Given the description of an element on the screen output the (x, y) to click on. 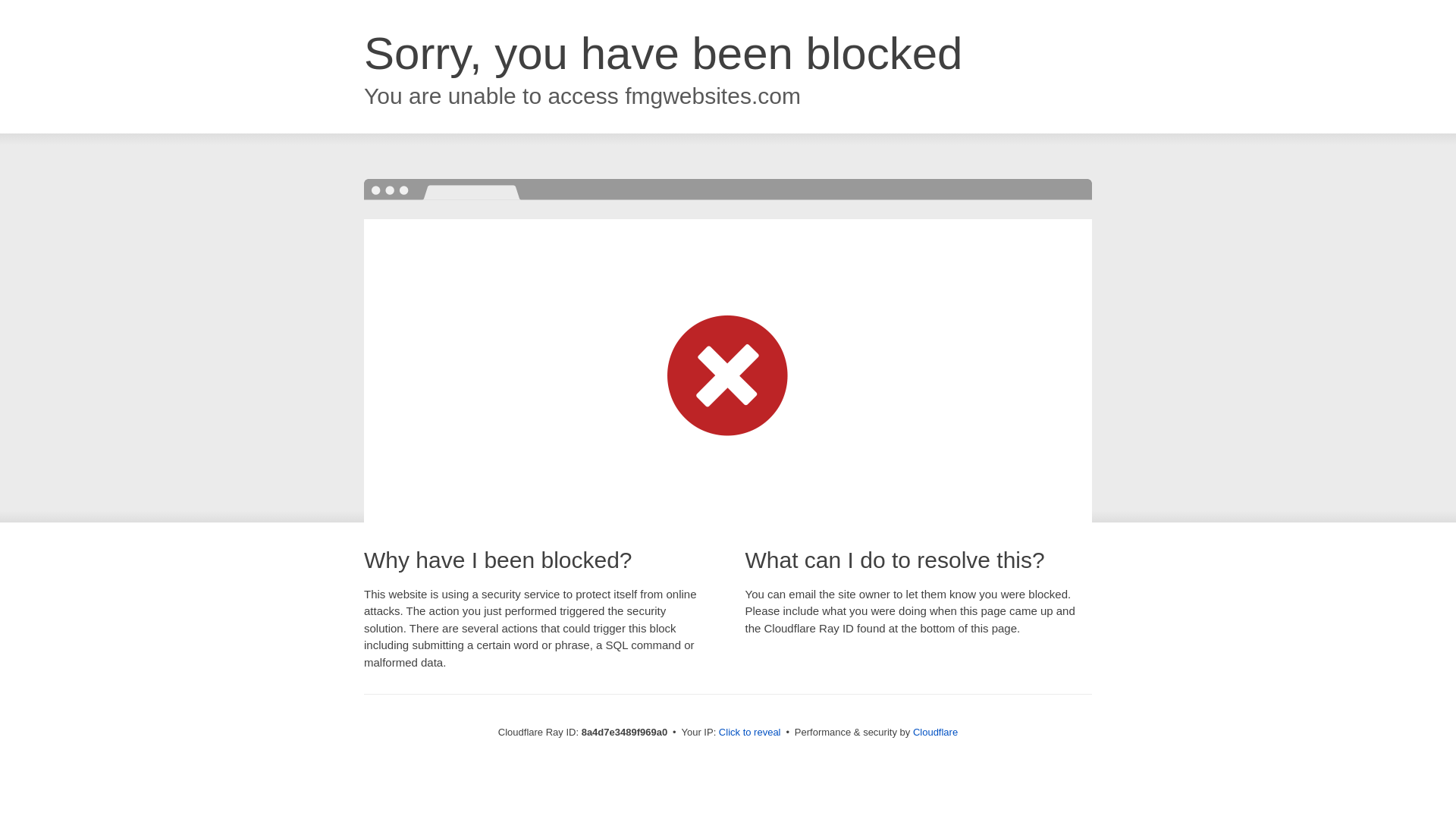
Cloudflare (935, 731)
Click to reveal (749, 732)
